Given the description of an element on the screen output the (x, y) to click on. 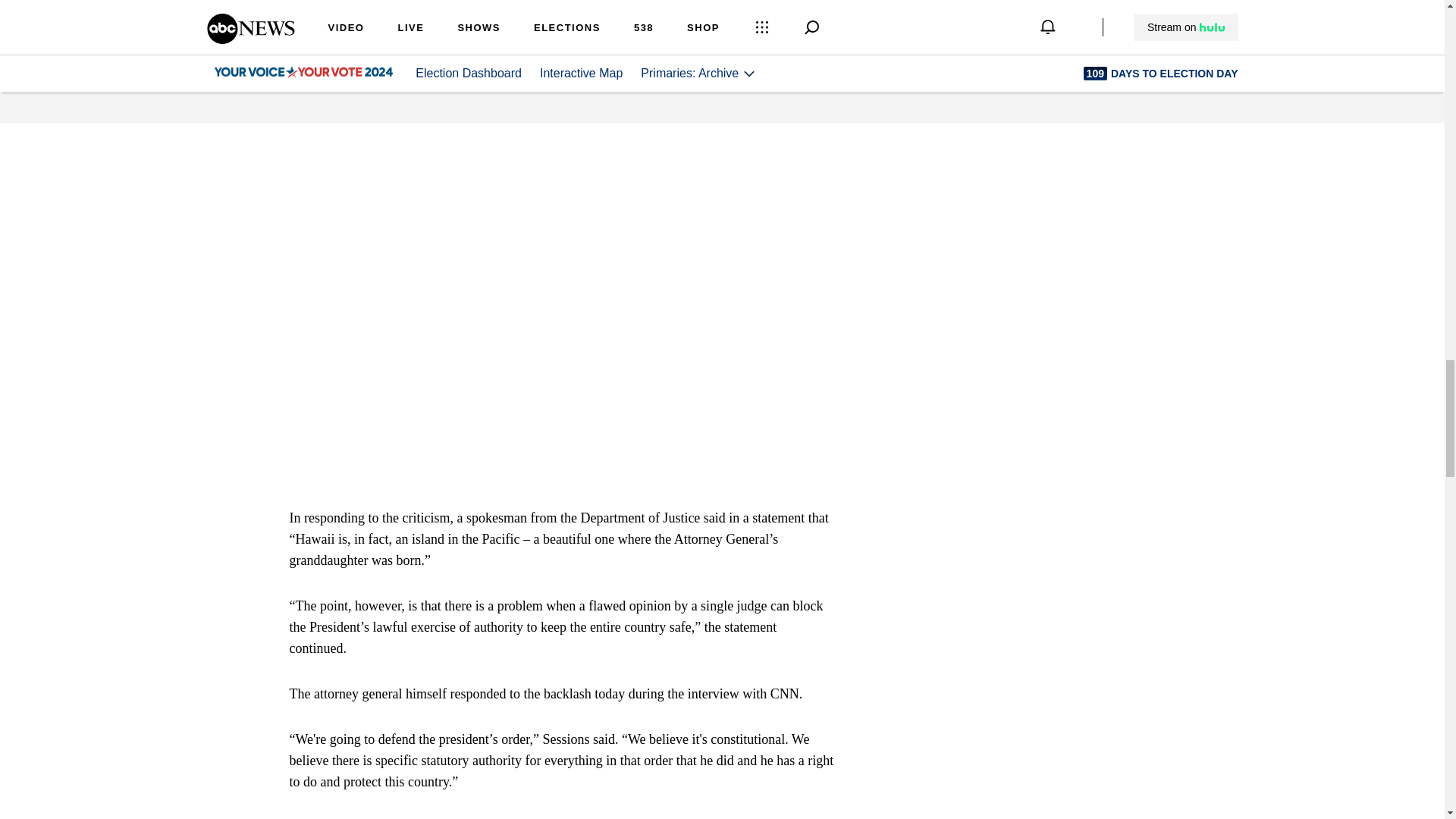
Tulsi Gabbard (356, 85)
